Given the description of an element on the screen output the (x, y) to click on. 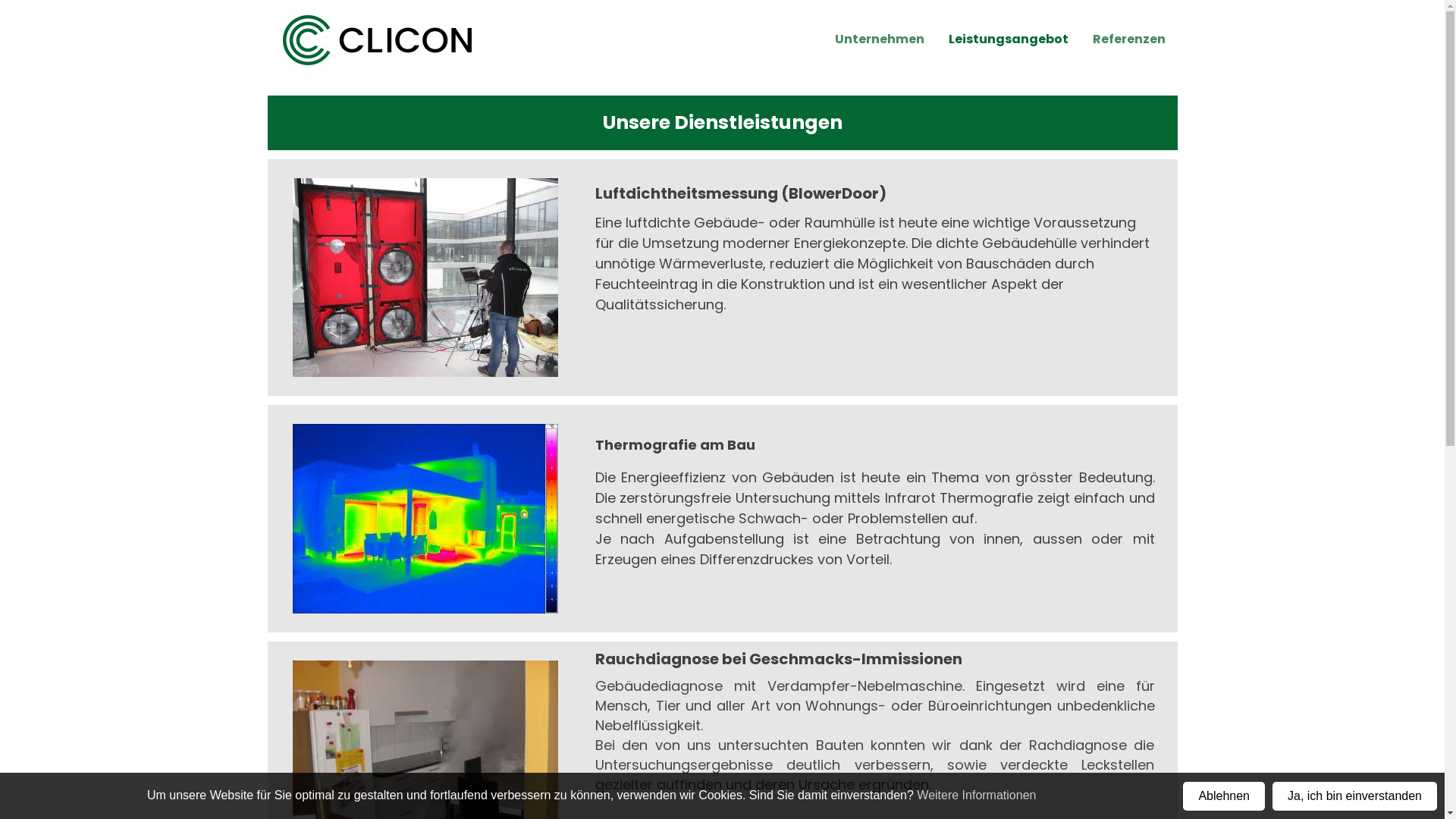
Luftdichtheitsmessung (BlowerDoor) Element type: text (740, 192)
Unternehmen Element type: text (878, 38)
Referenzen Element type: text (1127, 38)
Leistungsangebot Element type: text (1007, 38)
Thermografie am Bau Element type: text (675, 444)
Weitere Informationen Element type: text (975, 794)
